Given the description of an element on the screen output the (x, y) to click on. 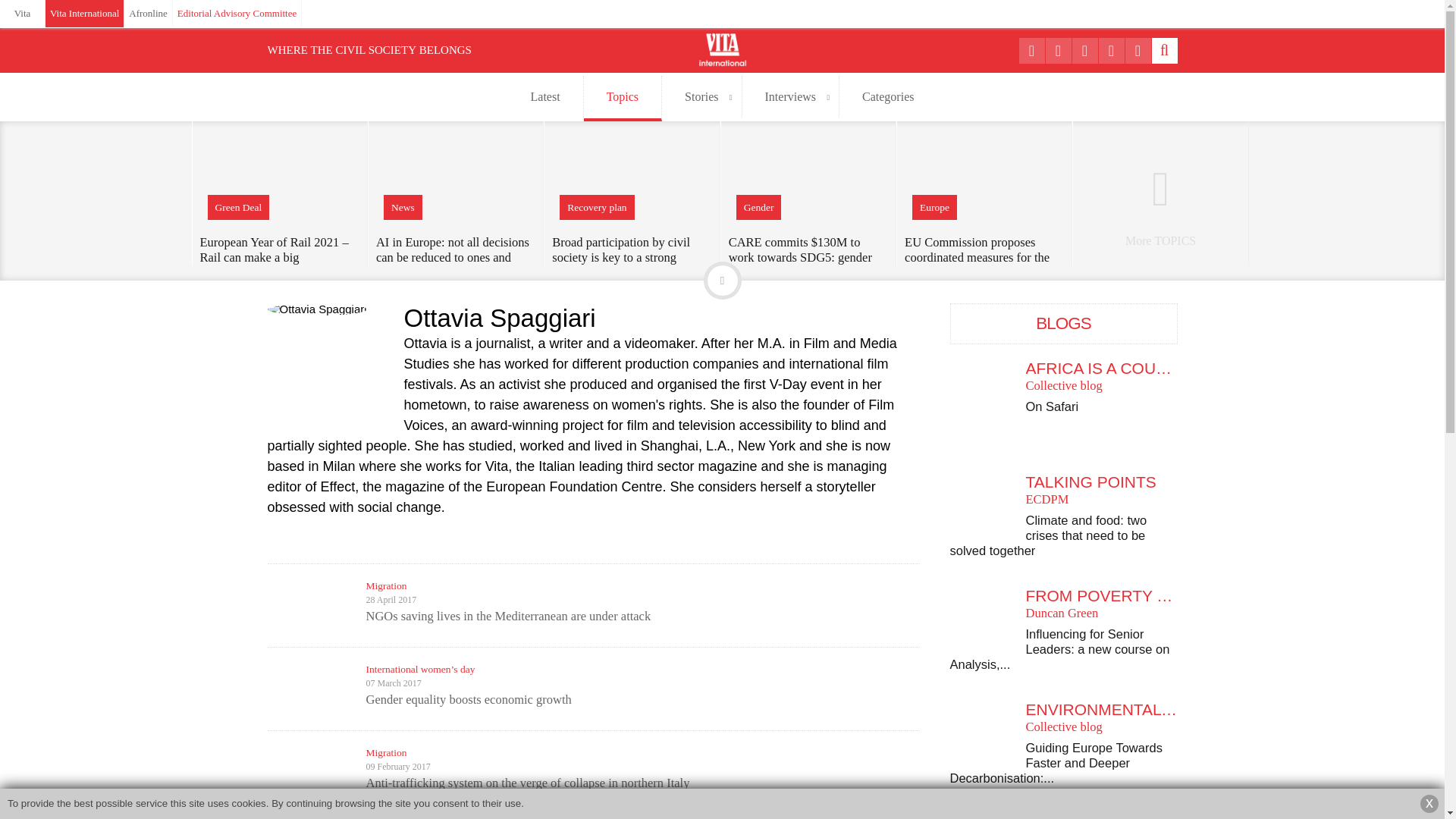
Follow us on YouTube (1110, 50)
Topics (622, 98)
Latest (545, 96)
Editorial Advisory Committee (237, 13)
Vita (22, 13)
Follow us on Facebook (1032, 50)
Feed Rss (1138, 50)
Afronline (148, 13)
Vita International (84, 13)
Follow us on Twitter (1057, 50)
